Given the description of an element on the screen output the (x, y) to click on. 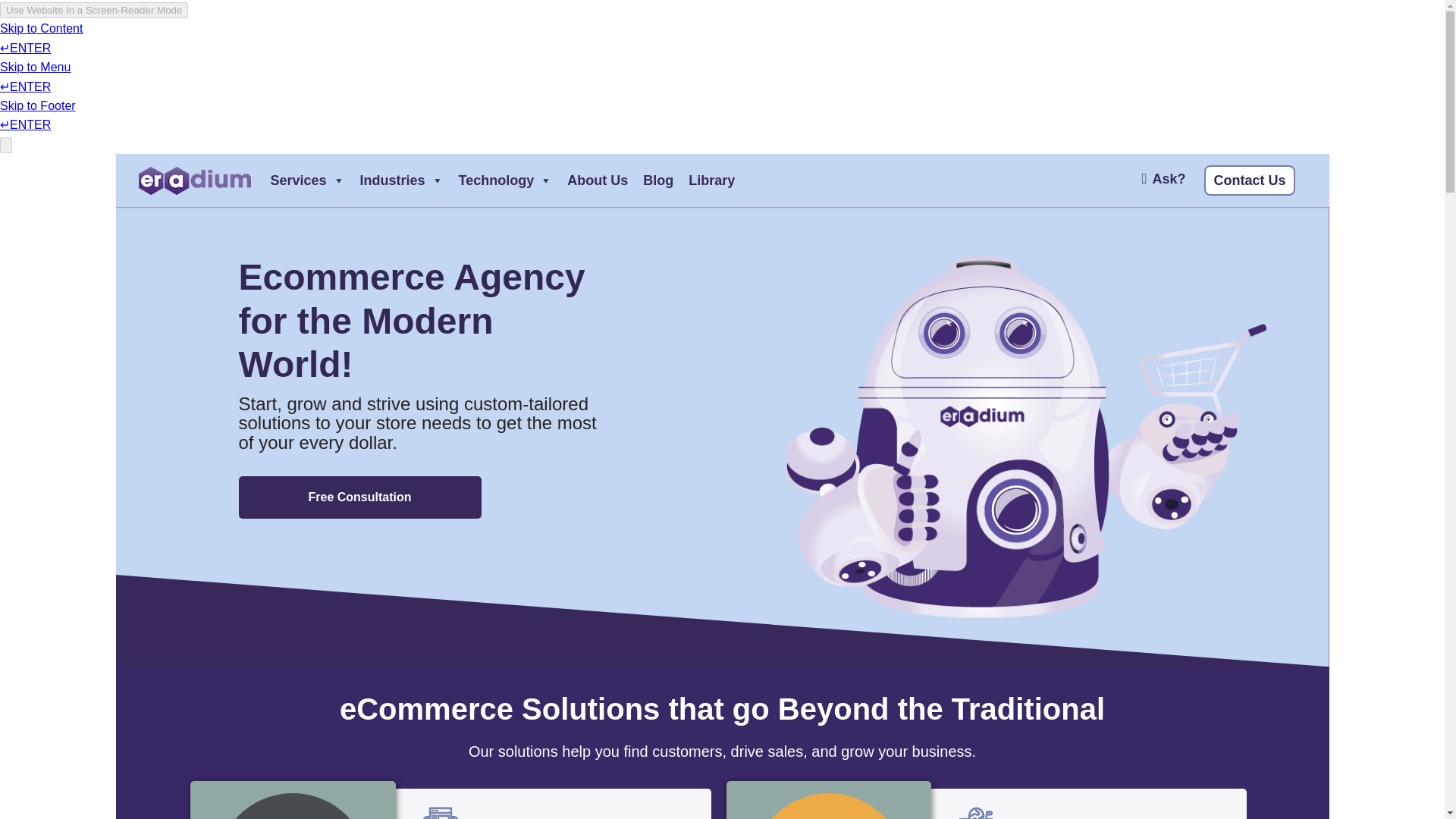
Technology (505, 180)
About Us (596, 180)
Contact Us (1249, 180)
Ask? (1163, 180)
Blog (657, 180)
About Us (596, 180)
Industries (401, 180)
Services (307, 180)
Library (711, 180)
Free Consultation (359, 496)
